Given the description of an element on the screen output the (x, y) to click on. 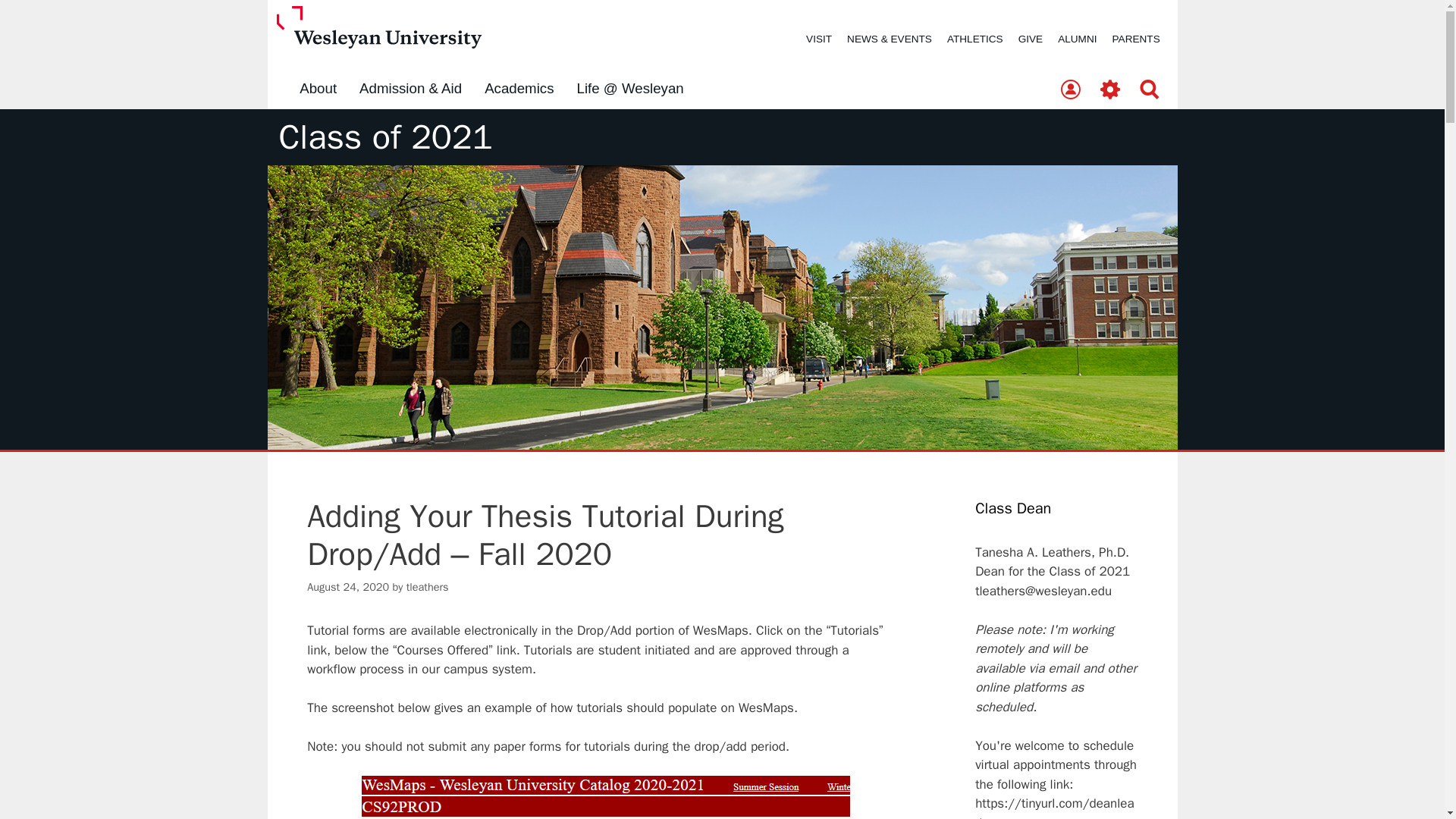
ATHLETICS (974, 39)
About (317, 89)
Tools (1109, 90)
Search (1149, 90)
tleathers (427, 586)
VISIT (818, 39)
Directory (1069, 90)
PARENTS (1136, 39)
Class of 2021 (386, 137)
Academics (518, 89)
ALUMNI (1076, 39)
GIVE (1029, 39)
View all posts by tleathers (427, 586)
